Given the description of an element on the screen output the (x, y) to click on. 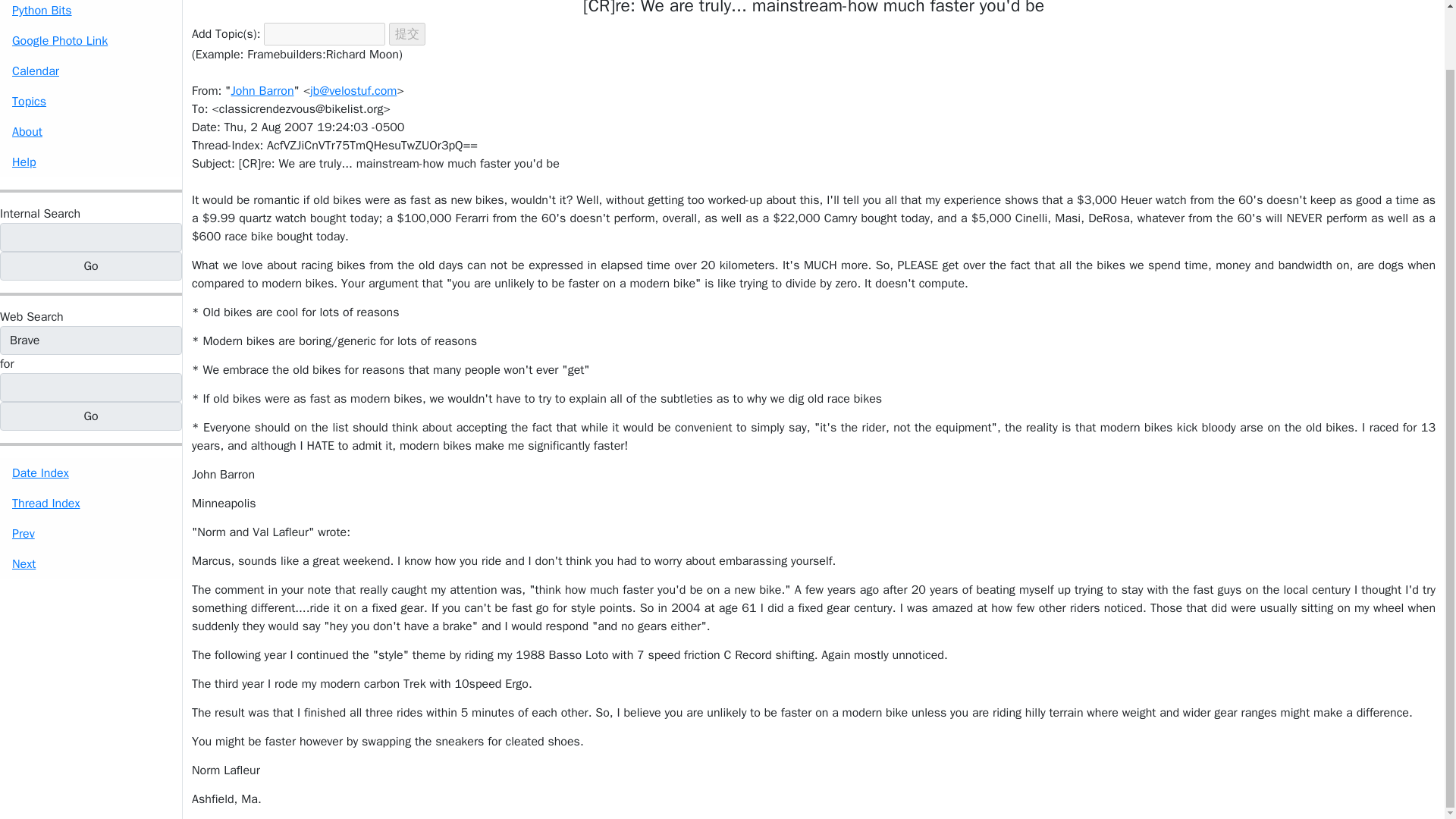
Select your preferred search engine and enter a search term. (32, 316)
Date Index (91, 472)
Go (91, 416)
Help (91, 162)
Next (91, 563)
Thread Index (91, 503)
Go (91, 265)
Google Photo Link (91, 40)
Calendar (91, 71)
Python Bits (91, 12)
